Given the description of an element on the screen output the (x, y) to click on. 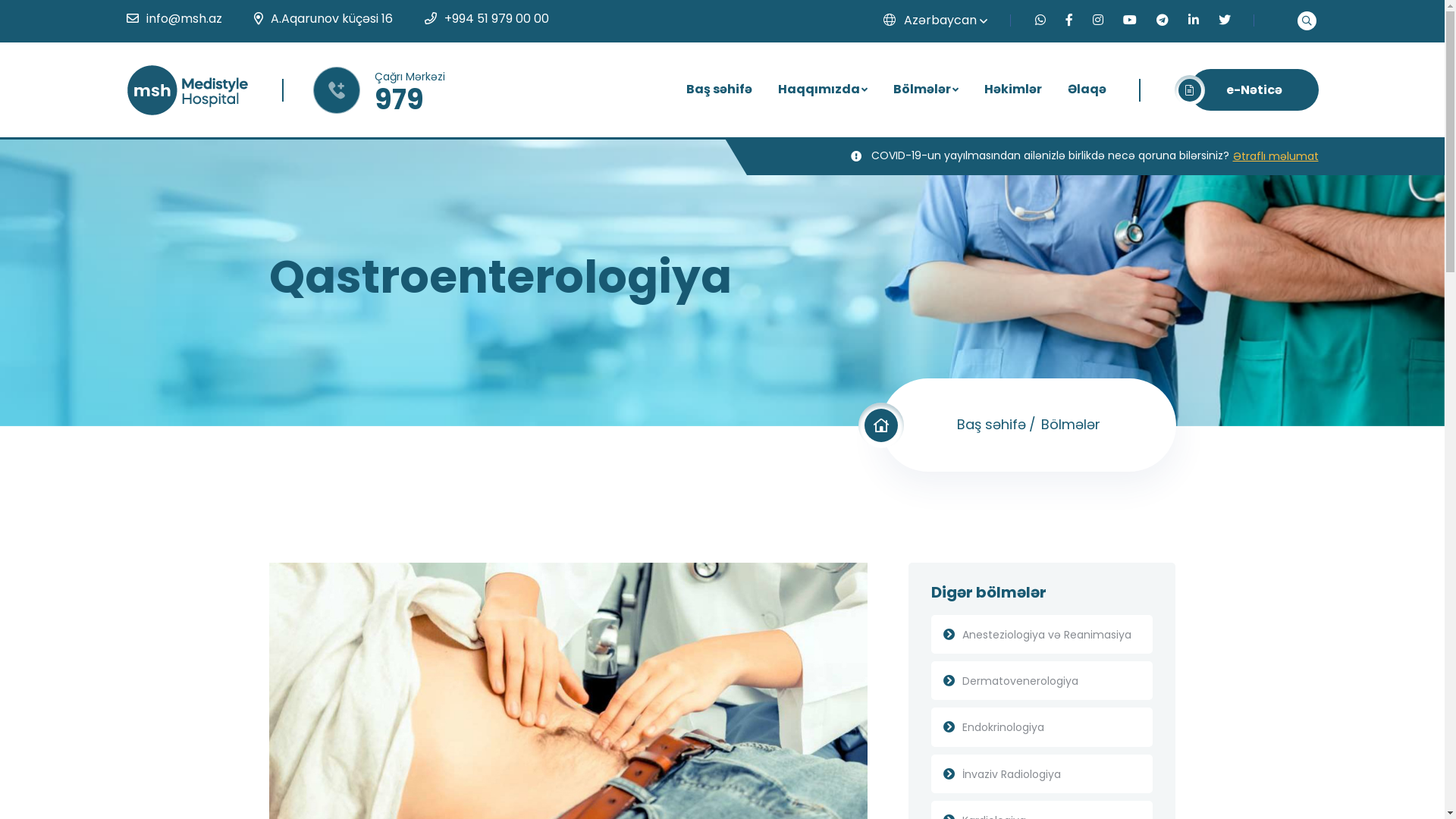
Dermatovenerologiya Element type: text (1042, 680)
+994 51 979 00 00 Element type: text (496, 18)
Endokrinologiya Element type: text (1042, 726)
info@msh.az Element type: text (183, 18)
979 Element type: text (398, 99)
